Given the description of an element on the screen output the (x, y) to click on. 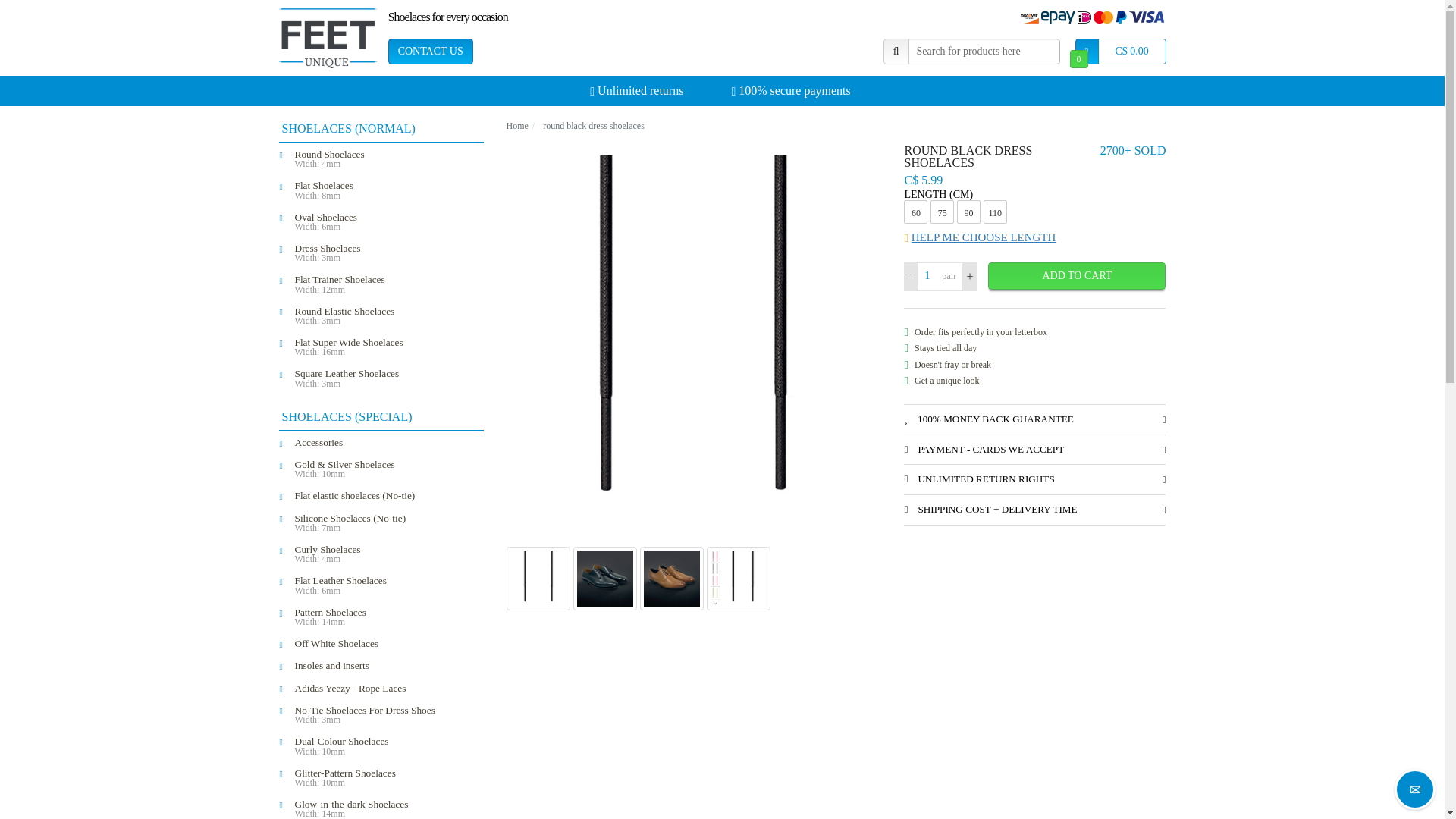
Home (517, 125)
round black dress shoelaces (594, 125)
Accessories (387, 252)
CONTACT US (387, 442)
Adidas Yeezy - Rope Laces (387, 158)
round black dress shoelaces (387, 616)
Off White Shoelaces (430, 51)
